Given the description of an element on the screen output the (x, y) to click on. 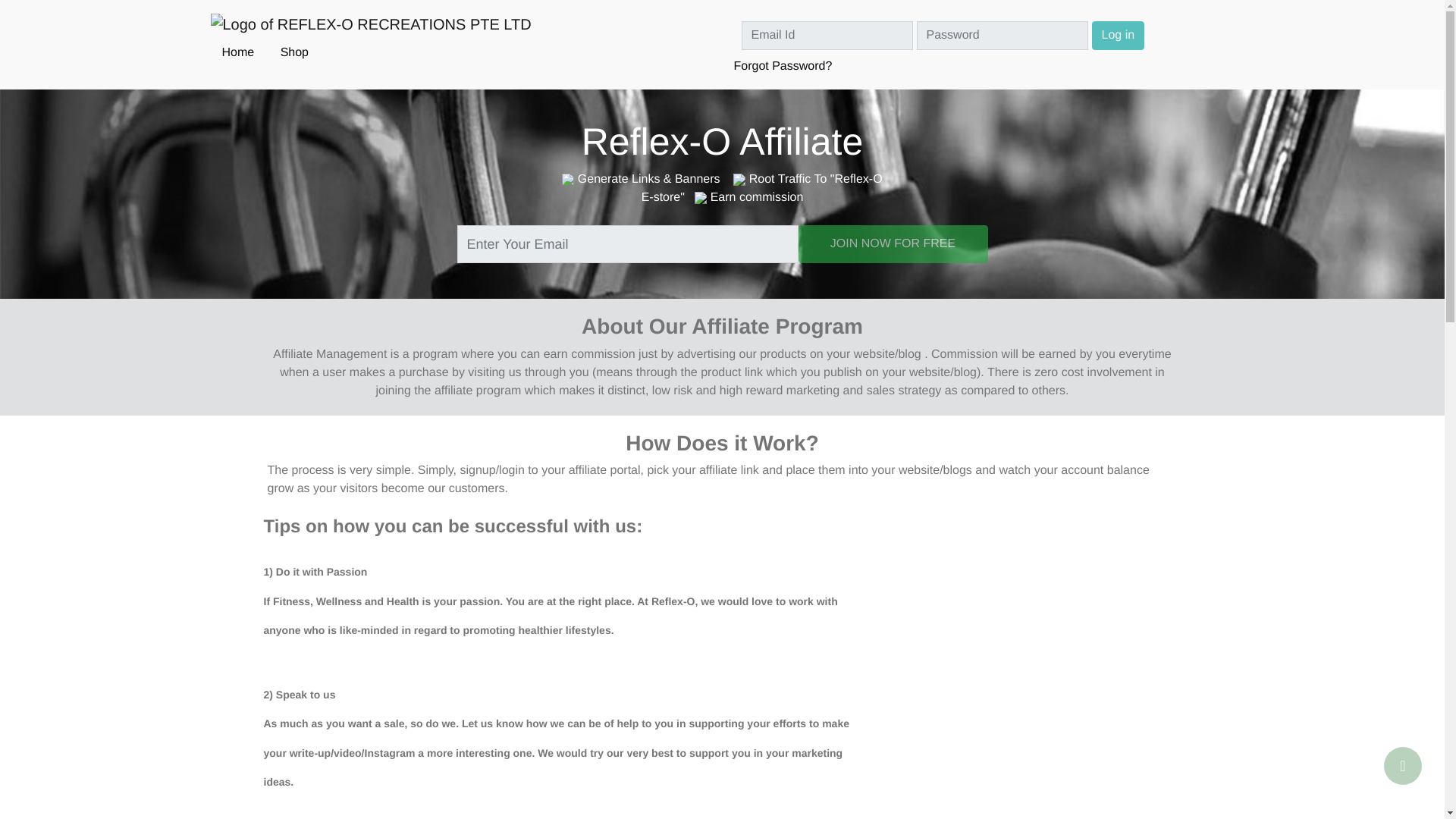
REFLEX-O RECREATIONS PTE LTD (371, 28)
